Given the description of an element on the screen output the (x, y) to click on. 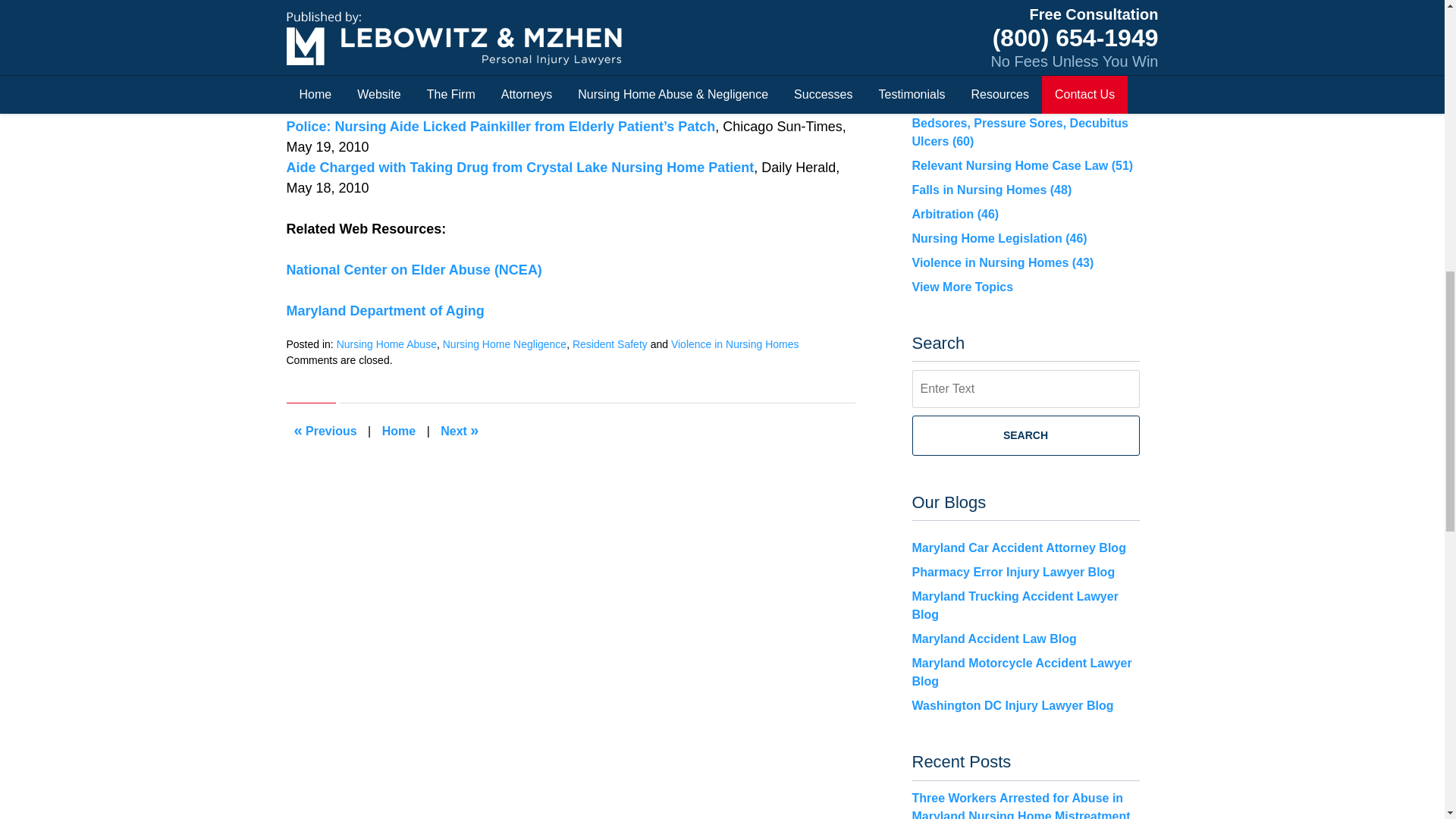
CDC Guide to Nursing Home Fall Prevention (459, 430)
Program Aims to Reduce Falls in Maryland Nursing Homes (325, 430)
View all posts in Resident Safety (609, 344)
Resident Safety (609, 344)
View all posts in Nursing Home Abuse (386, 344)
Lebowitz and Mzhen (502, 85)
Home (398, 430)
Maryland Department of Aging (385, 310)
Nursing Home Negligence (504, 344)
View all posts in Nursing Home Negligence (504, 344)
